Given the description of an element on the screen output the (x, y) to click on. 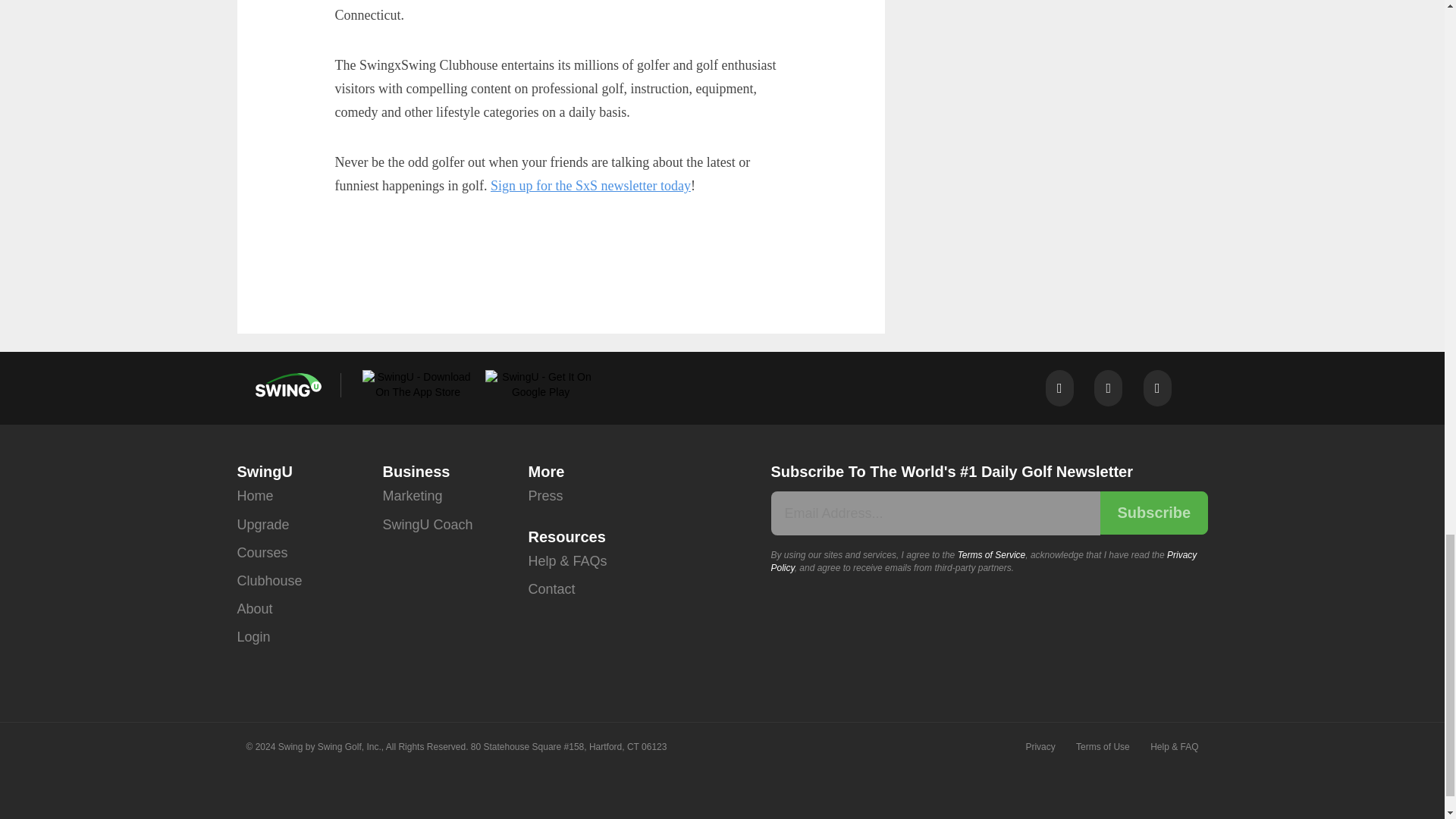
Press (544, 496)
Login (252, 637)
Privacy (1039, 747)
Subscribe (1153, 512)
Courses (260, 552)
Marketing (411, 496)
Upgrade (261, 524)
Privacy Policy (983, 561)
Contact (551, 589)
Sign up for the SxS newsletter today (590, 185)
Clubhouse (268, 581)
Home (254, 496)
About (253, 609)
SwingU Coach (426, 524)
Terms of Service (992, 554)
